Given the description of an element on the screen output the (x, y) to click on. 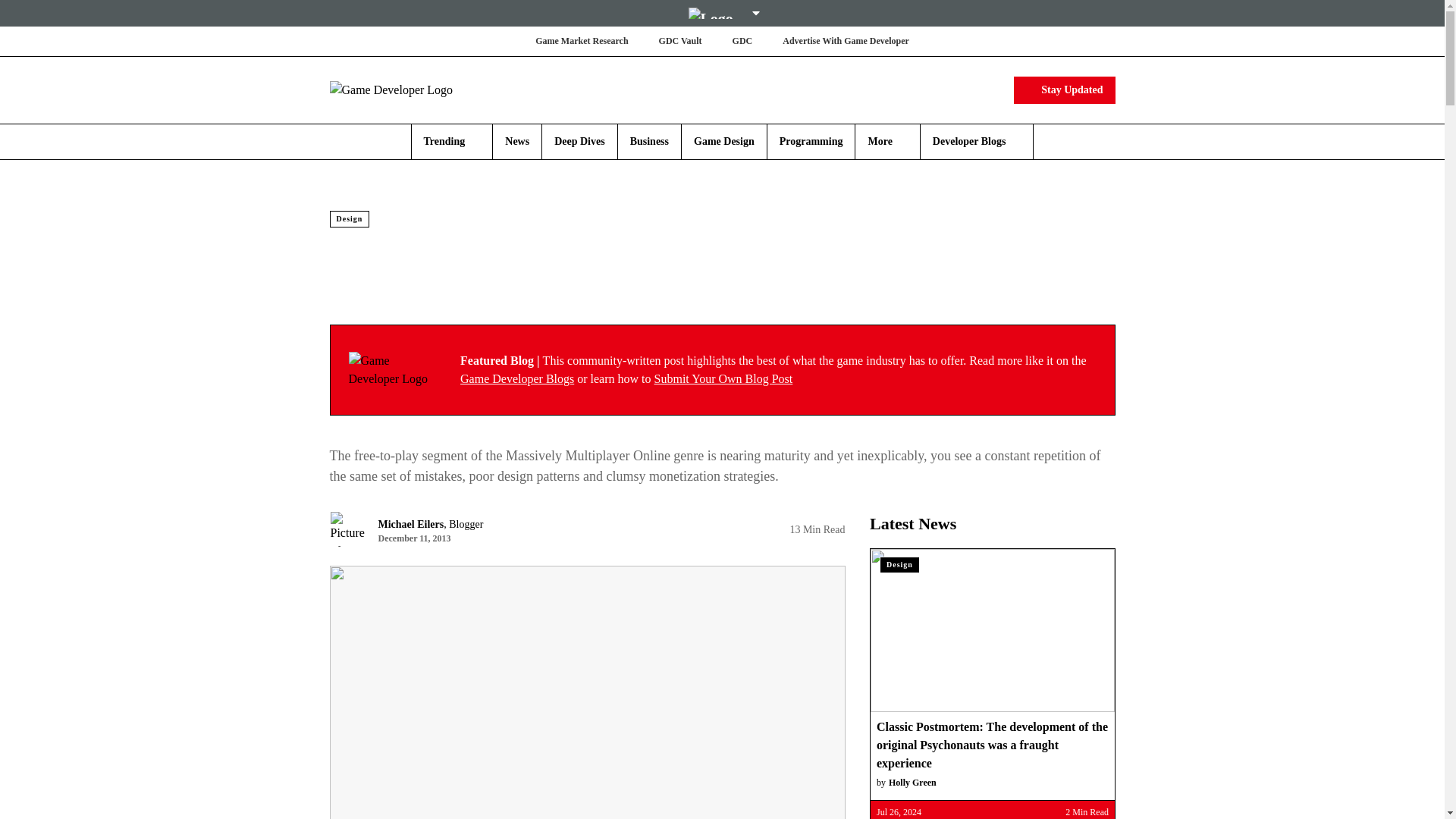
Game Design (724, 141)
Programming (810, 141)
Game Developer Logo (389, 370)
Game Developer Logo (419, 90)
Advertise With Game Developer (845, 41)
Game Market Research (581, 41)
GDC (742, 41)
Business (649, 141)
Deep Dives (579, 141)
News (517, 141)
Picture of Michael Eilers (347, 529)
Stay Updated (1064, 89)
GDC Vault (680, 41)
